Given the description of an element on the screen output the (x, y) to click on. 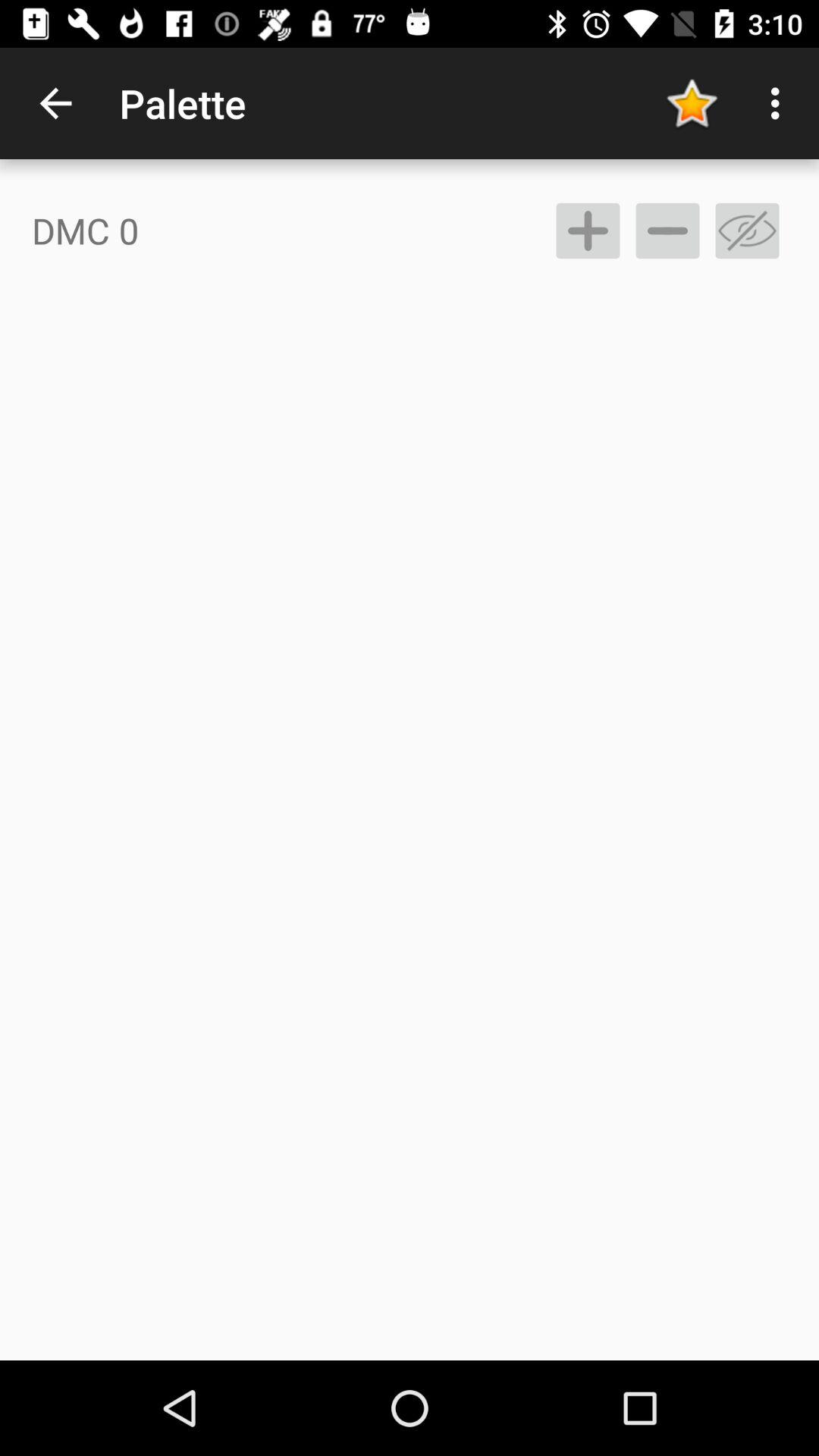
remove icon box (747, 230)
